Given the description of an element on the screen output the (x, y) to click on. 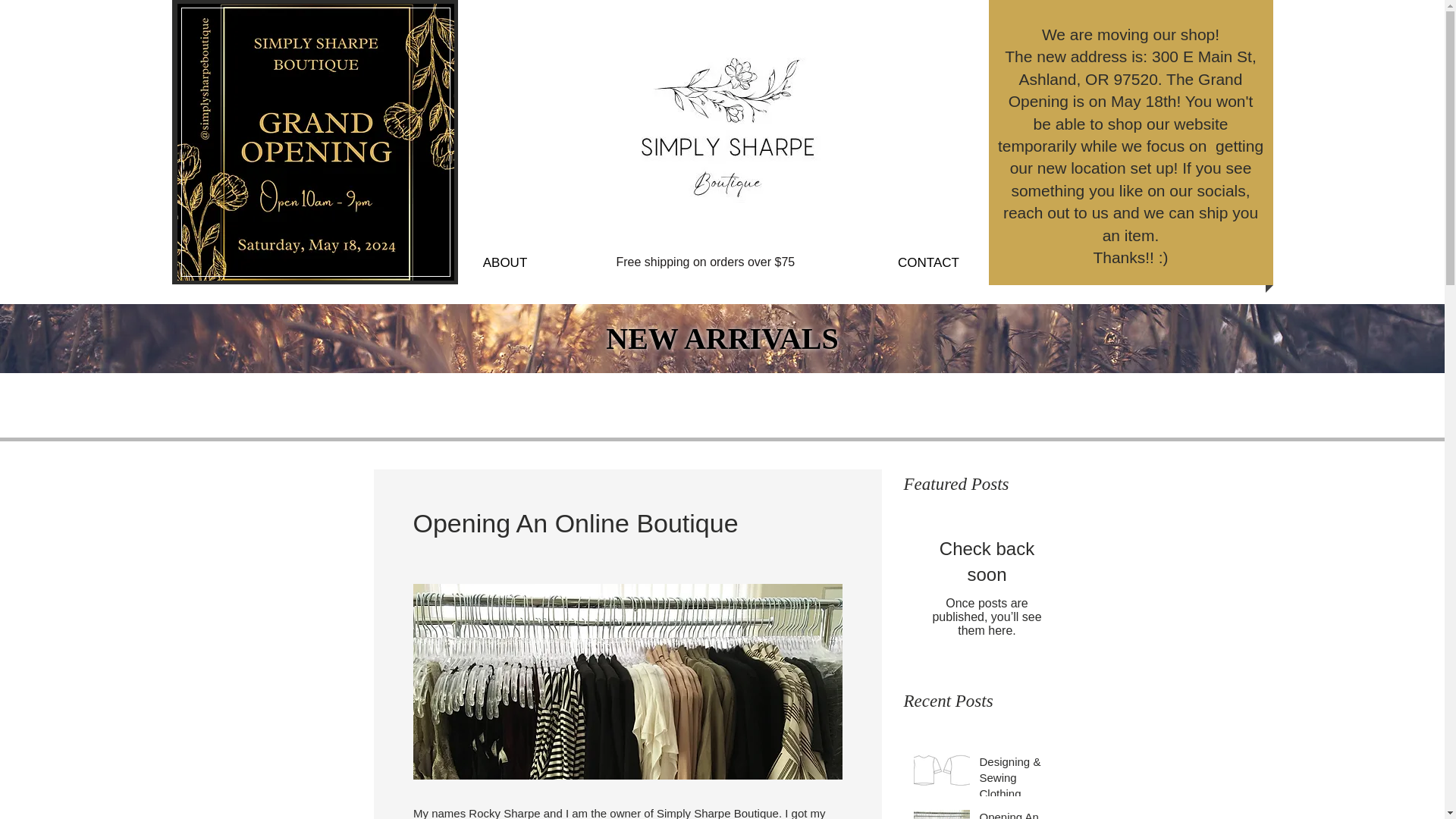
ABOUT (504, 262)
Opening An Online Boutique (1020, 814)
CONTACT (928, 262)
